Given the description of an element on the screen output the (x, y) to click on. 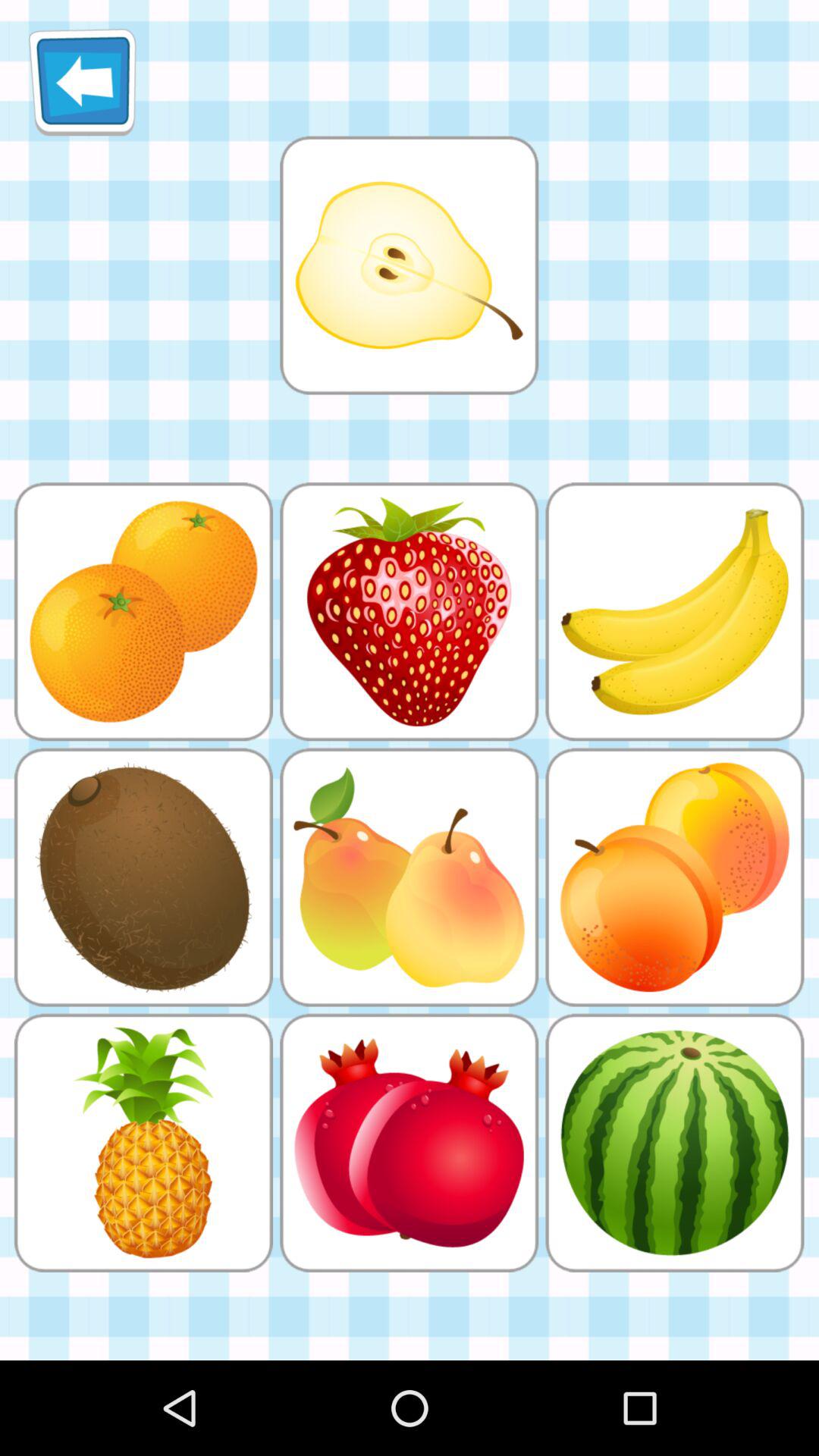
click arrow to go back one page (82, 82)
